Given the description of an element on the screen output the (x, y) to click on. 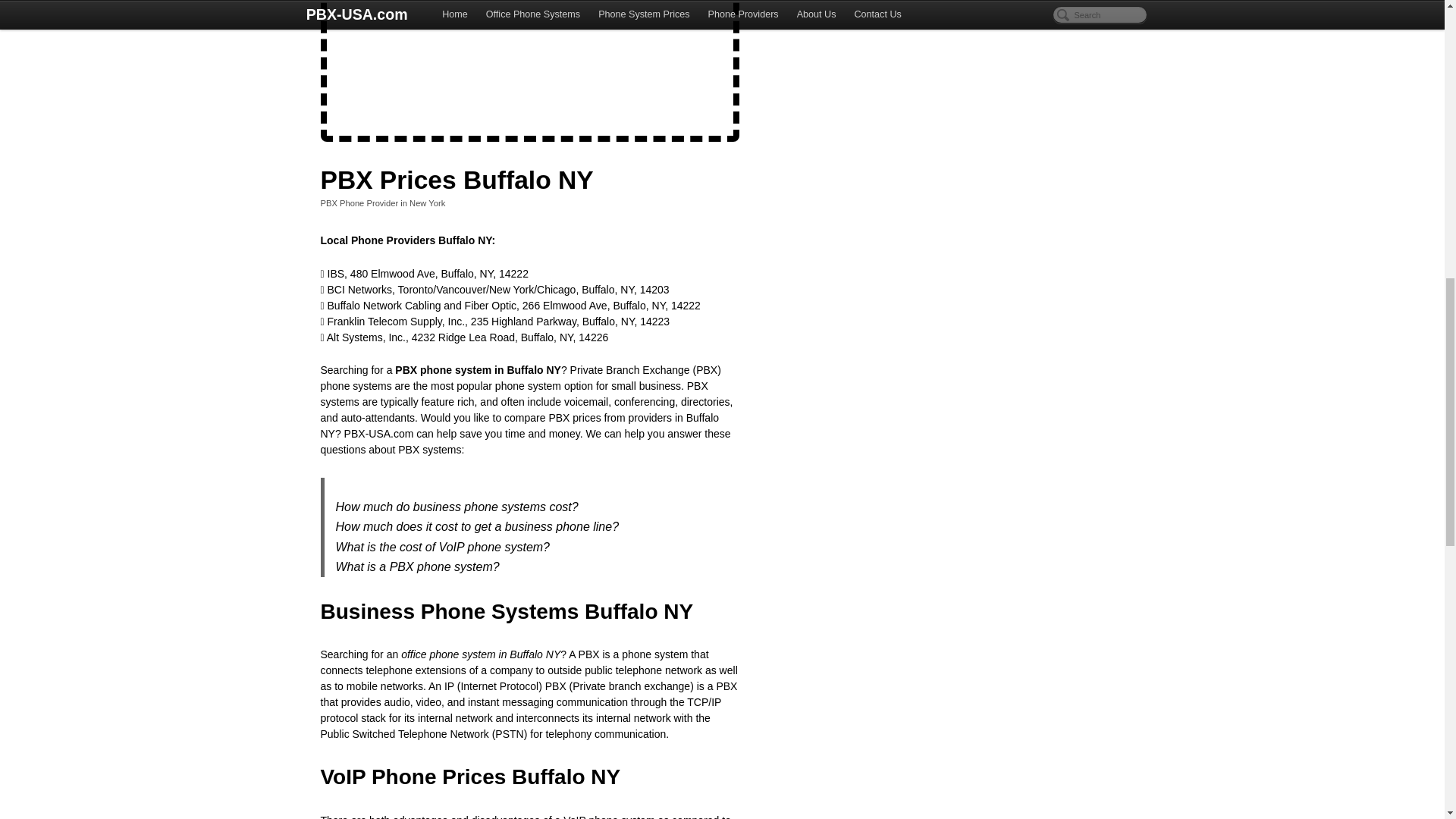
PBX Phone Provider (358, 203)
New York (427, 203)
Embedded Wufoo Form (529, 65)
